Given the description of an element on the screen output the (x, y) to click on. 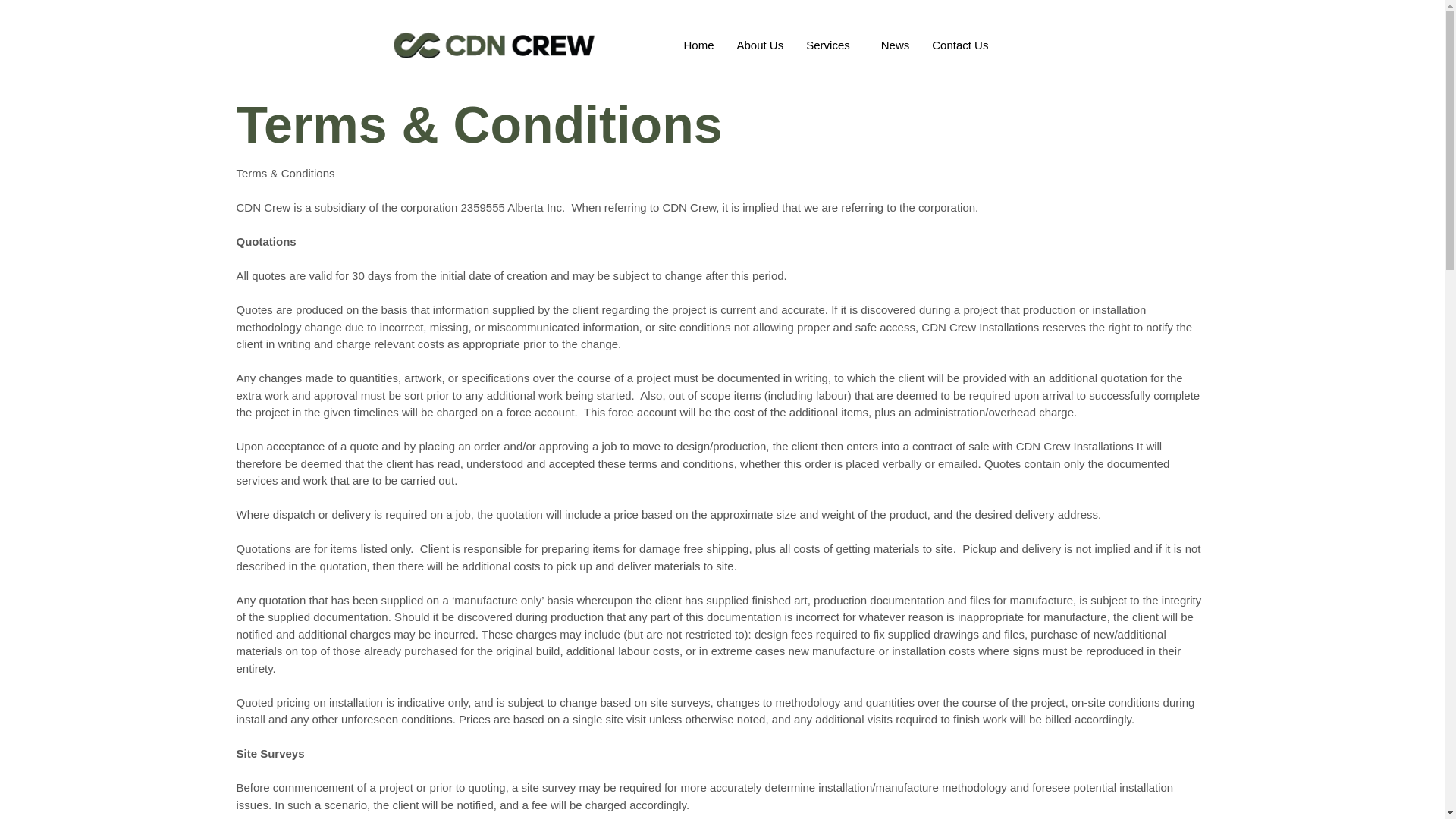
About Us (759, 45)
Services (831, 45)
Contact Us (959, 45)
